Given the description of an element on the screen output the (x, y) to click on. 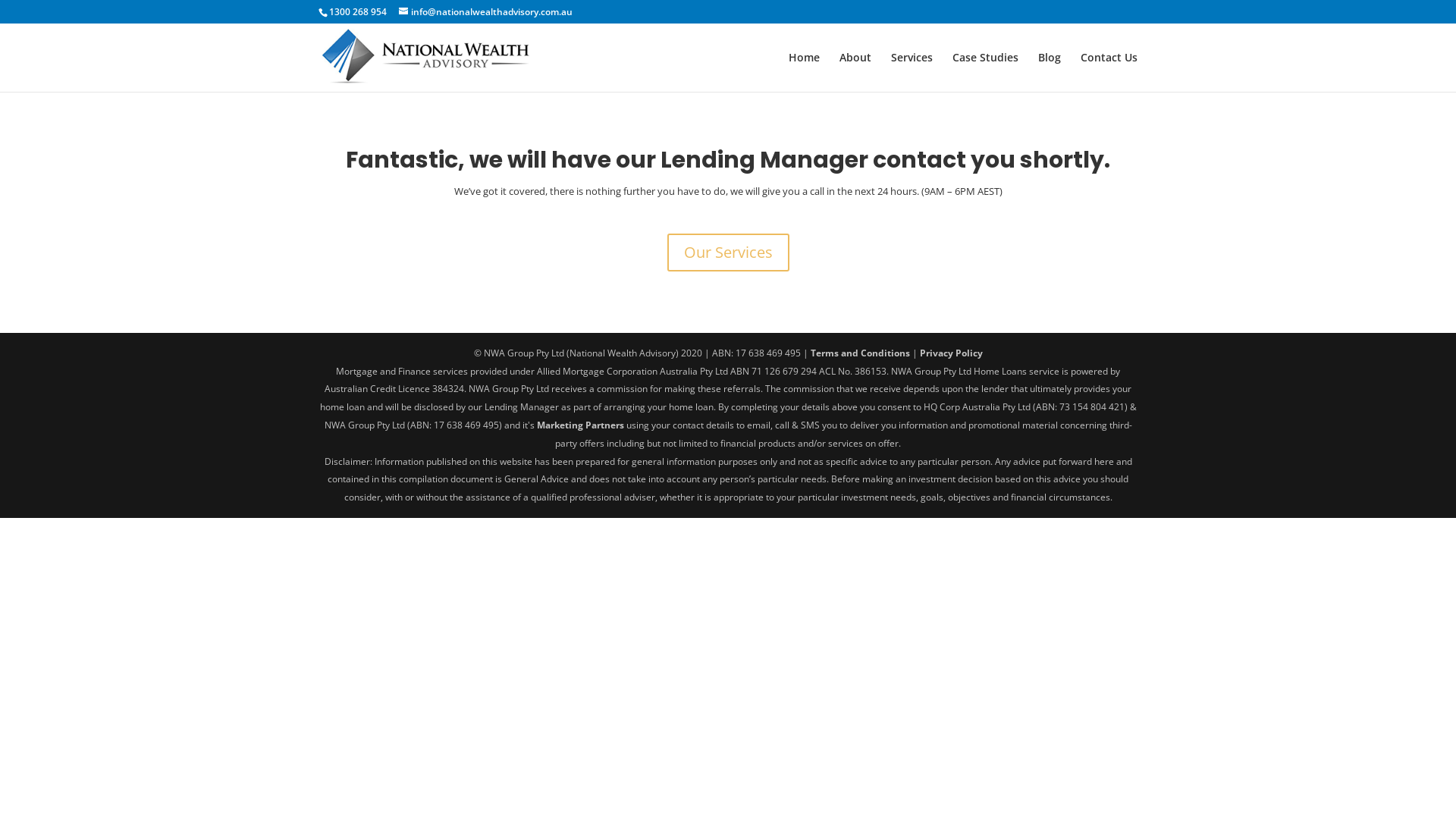
Marketing Partners Element type: text (580, 424)
Privacy Policy Element type: text (950, 352)
Case Studies Element type: text (985, 69)
Blog Element type: text (1049, 69)
info@nationalwealthadvisory.com.au Element type: text (485, 11)
Terms and Conditions Element type: text (859, 352)
About Element type: text (855, 69)
Contact Us Element type: text (1108, 69)
Our Services Element type: text (728, 252)
Home Element type: text (803, 69)
Services Element type: text (911, 69)
